Given the description of an element on the screen output the (x, y) to click on. 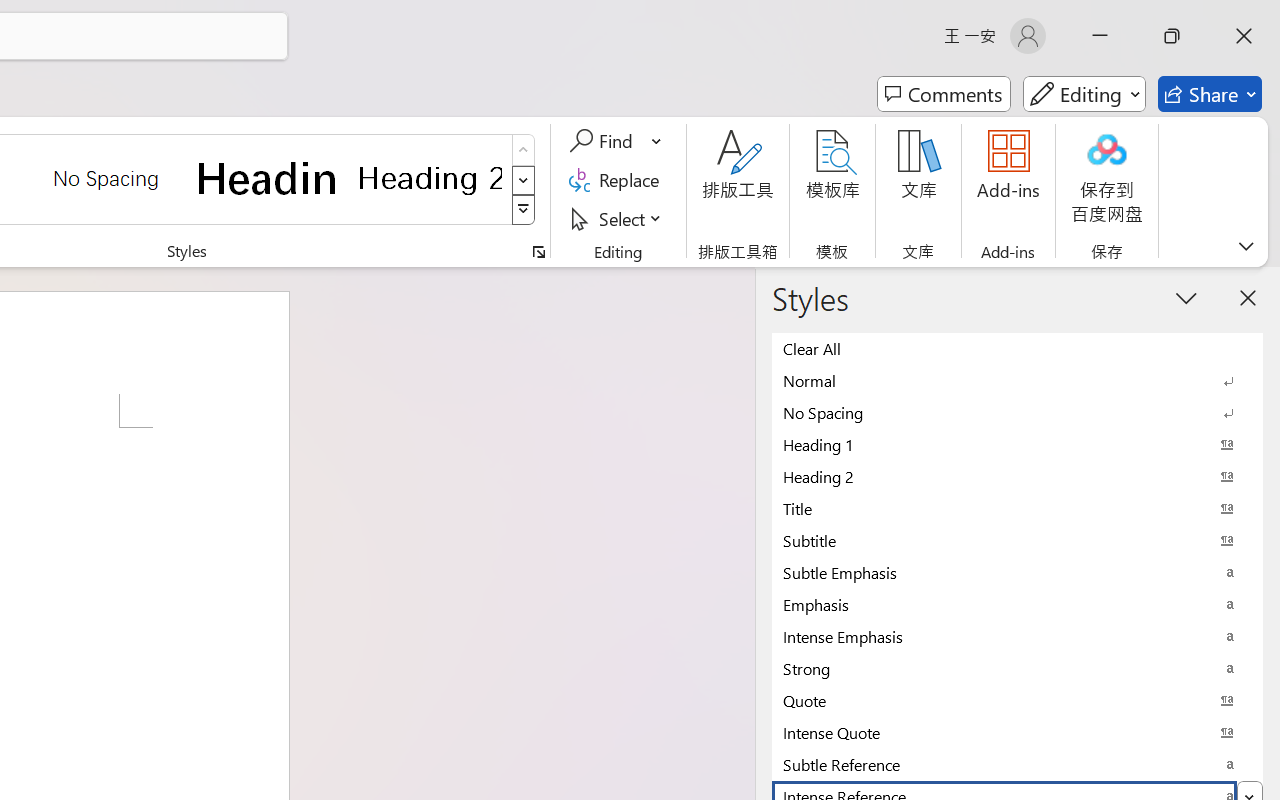
Subtle Reference (1017, 764)
Subtle Emphasis (1017, 572)
Clear All (1017, 348)
Intense Emphasis (1017, 636)
Replace... (617, 179)
Row Down (523, 180)
Styles... (538, 252)
Strong (1017, 668)
